Given the description of an element on the screen output the (x, y) to click on. 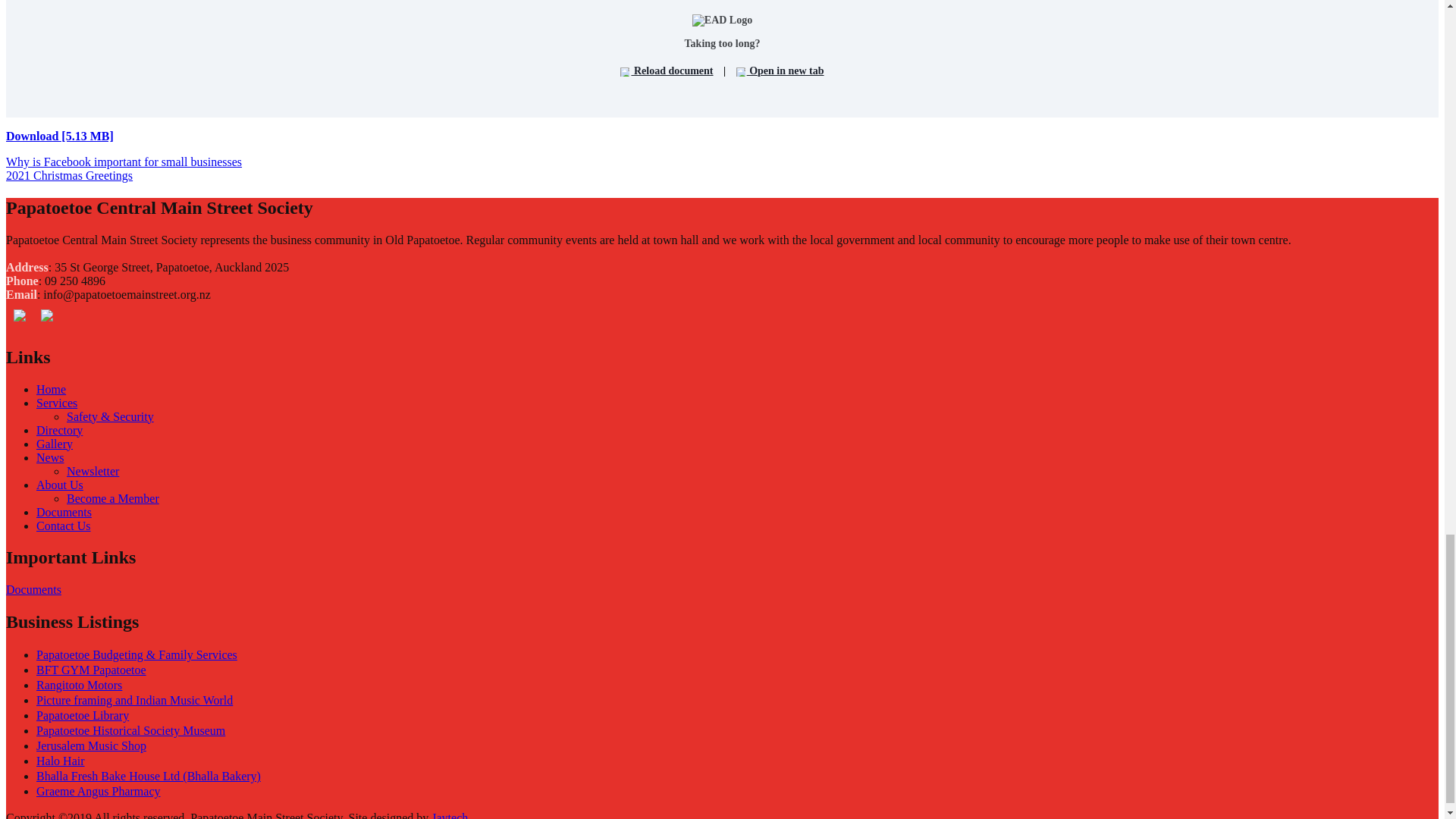
Directory (59, 430)
Become a Member (112, 498)
Documents (33, 589)
Rangitoto Motors (79, 684)
2021 Christmas Greetings (68, 174)
Contact Us (63, 525)
Newsletter (92, 471)
Open in new tab (780, 70)
Documents (63, 512)
Home (50, 389)
News (50, 457)
Picture framing and Indian Music World (134, 699)
BFT GYM Papatoetoe (91, 669)
Why is Facebook important for small businesses (123, 161)
Services (56, 402)
